Given the description of an element on the screen output the (x, y) to click on. 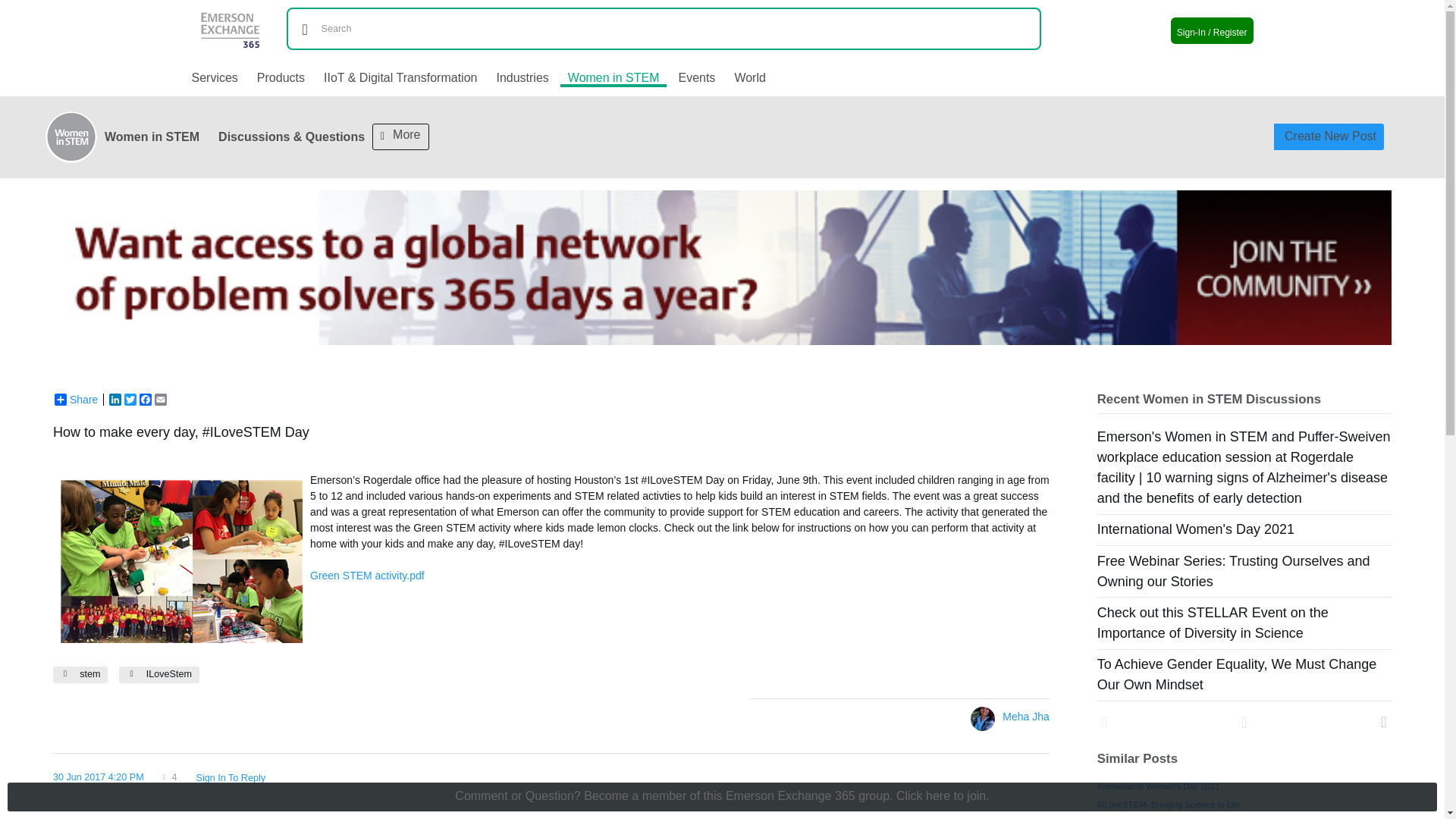
Women in STEM (613, 78)
Industries (521, 77)
Products (280, 77)
Home (237, 20)
Events (695, 77)
World (749, 77)
Women in STEM (151, 136)
Services (217, 77)
Join or Sign In (1211, 29)
